Given the description of an element on the screen output the (x, y) to click on. 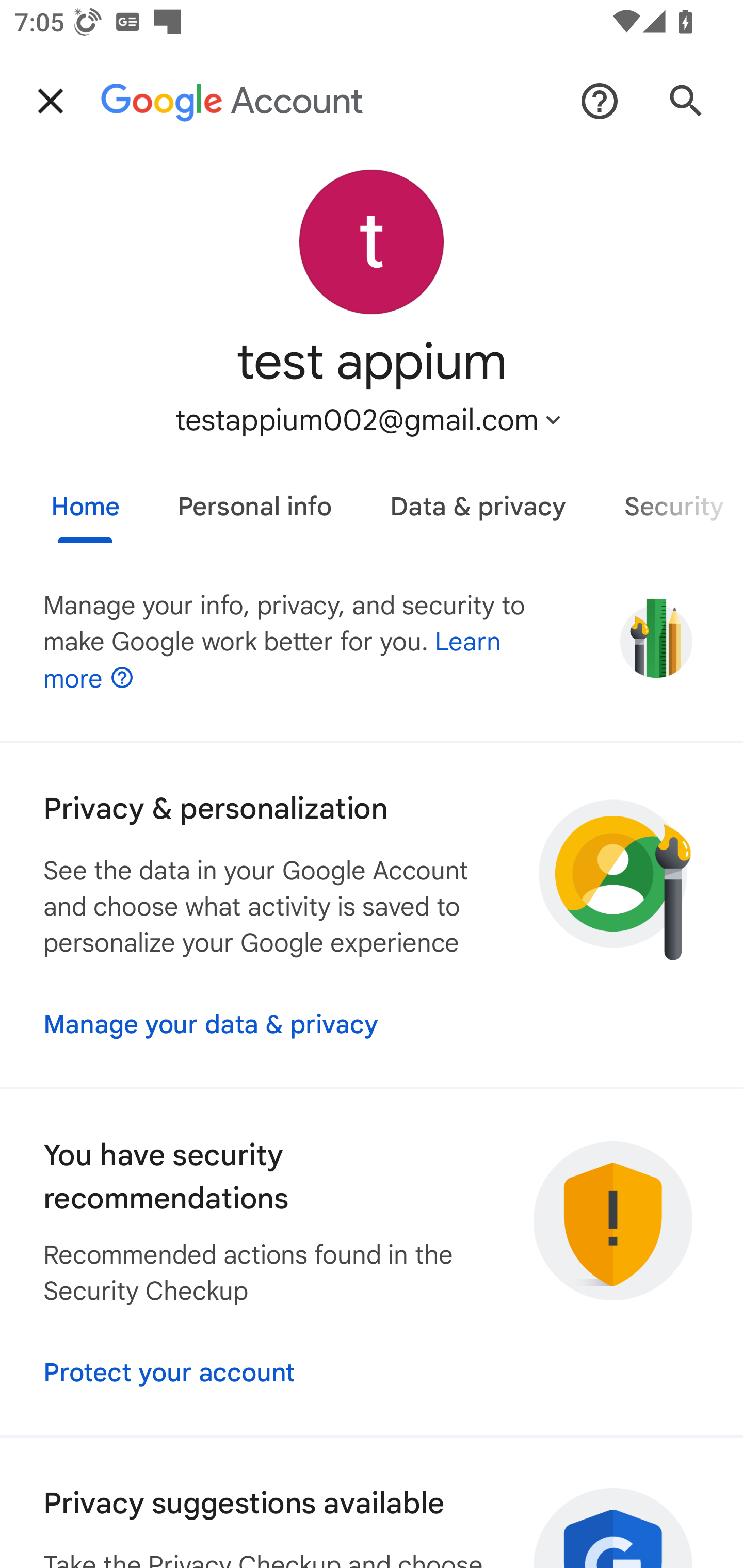
Close (50, 101)
Help (599, 101)
Search (685, 101)
Personal info (254, 499)
Data & privacy (477, 499)
Security (669, 499)
